Given the description of an element on the screen output the (x, y) to click on. 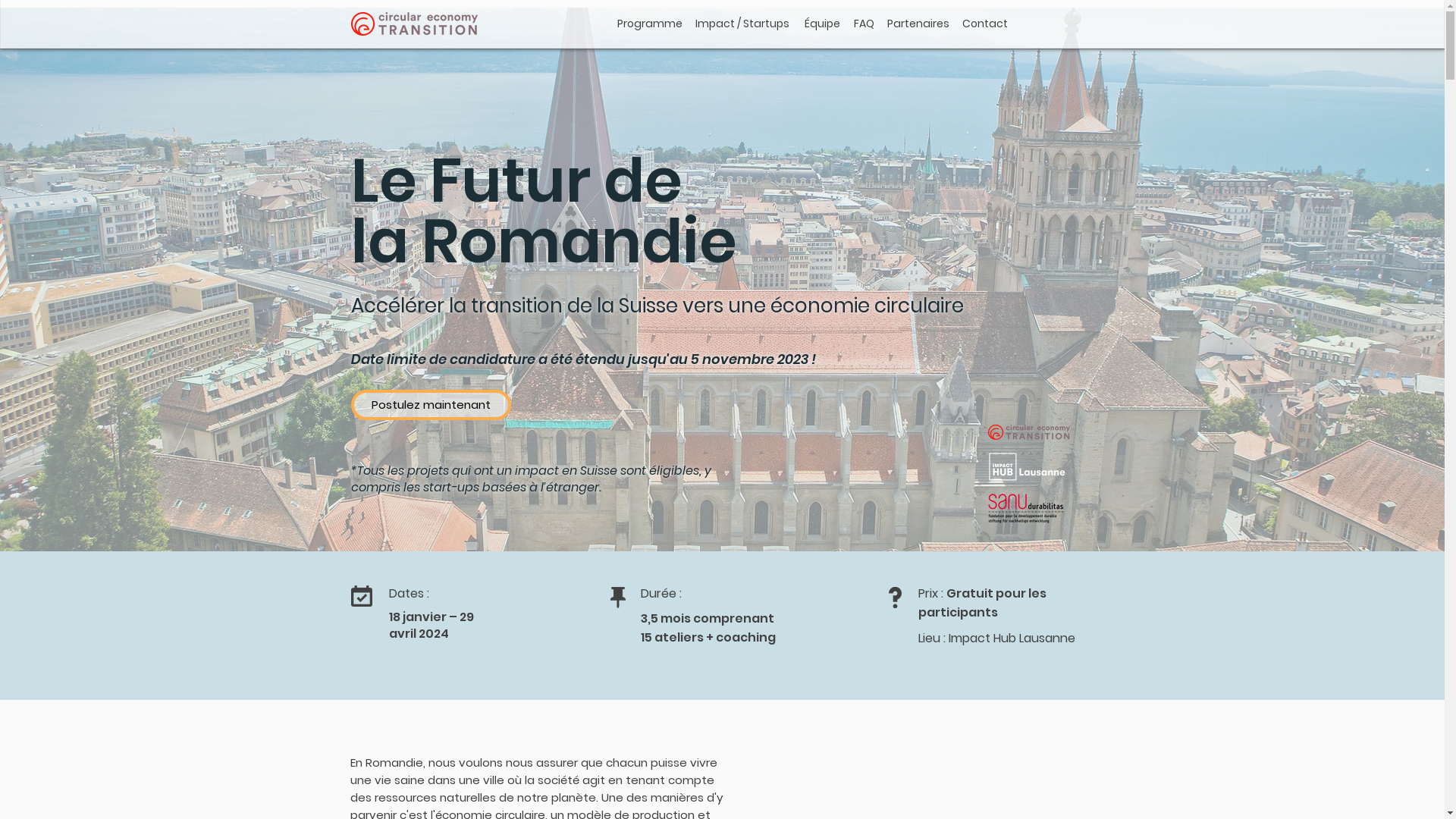
FAQ Element type: text (863, 23)
Postulez maintenant Element type: text (430, 404)
Contact Element type: text (984, 23)
Impact / Startups Element type: text (741, 23)
Partenaires Element type: text (918, 23)
Programme Element type: text (649, 23)
